Given the description of an element on the screen output the (x, y) to click on. 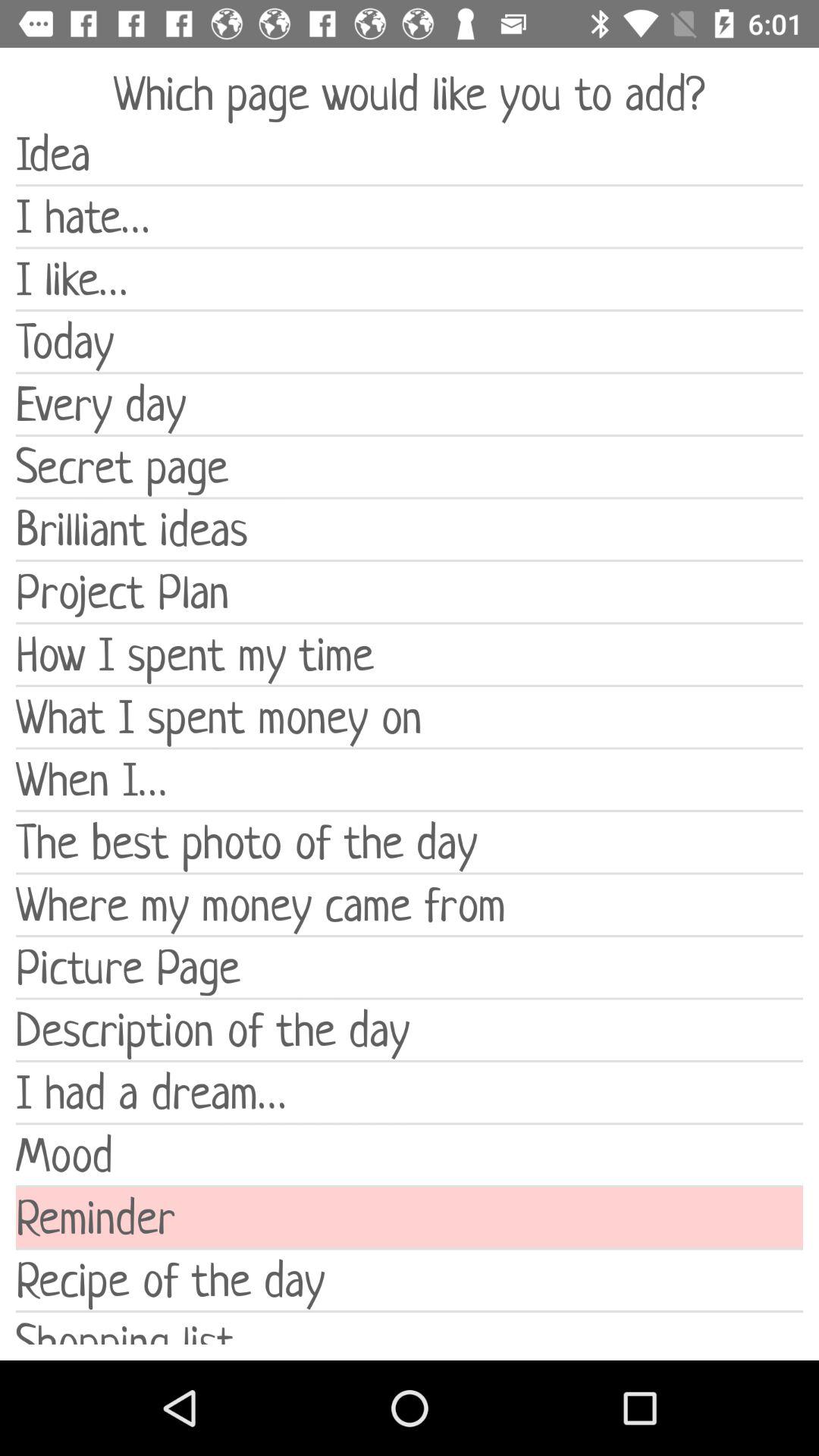
flip until secret page icon (409, 466)
